Given the description of an element on the screen output the (x, y) to click on. 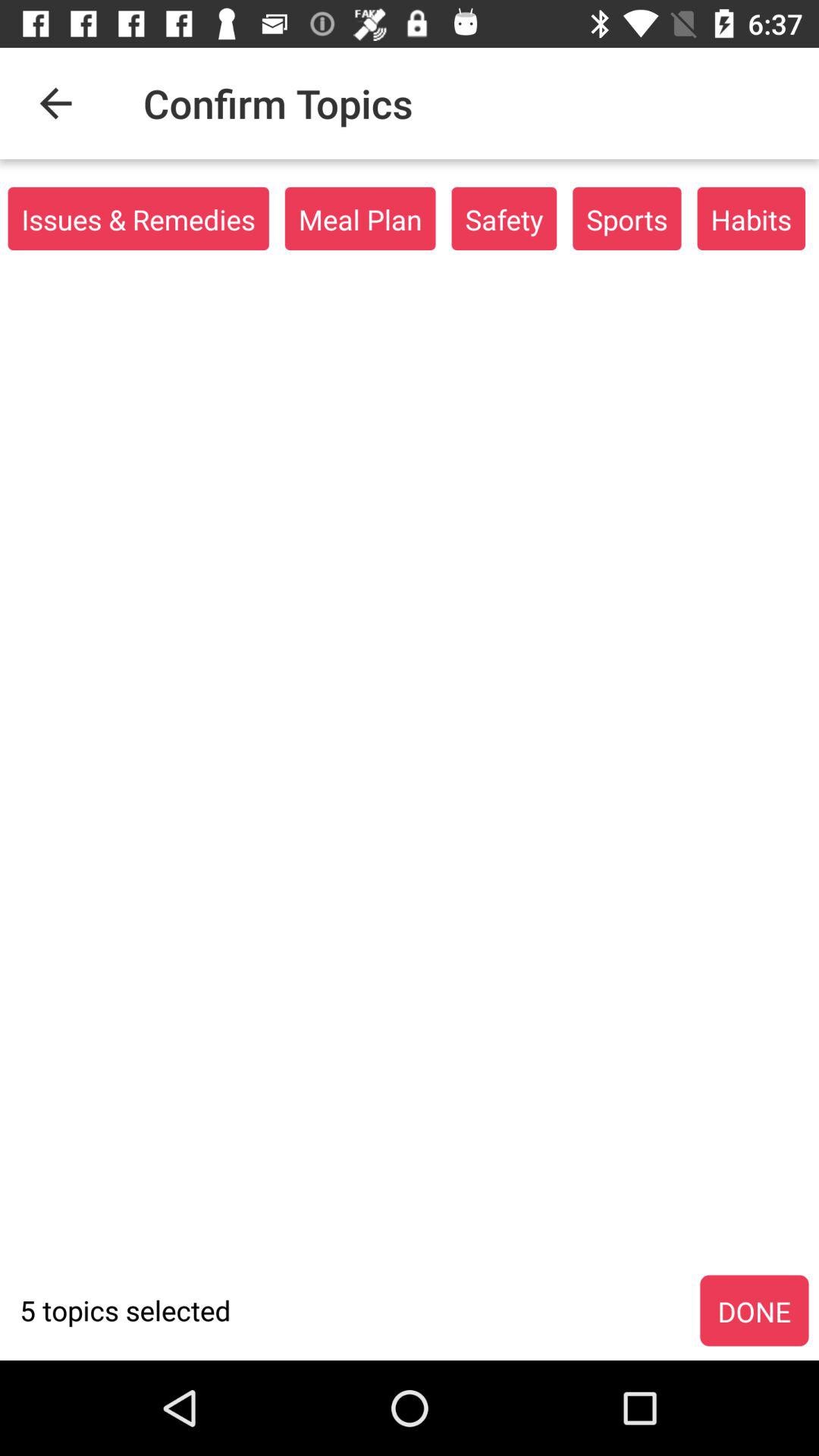
flip until done item (754, 1311)
